Given the description of an element on the screen output the (x, y) to click on. 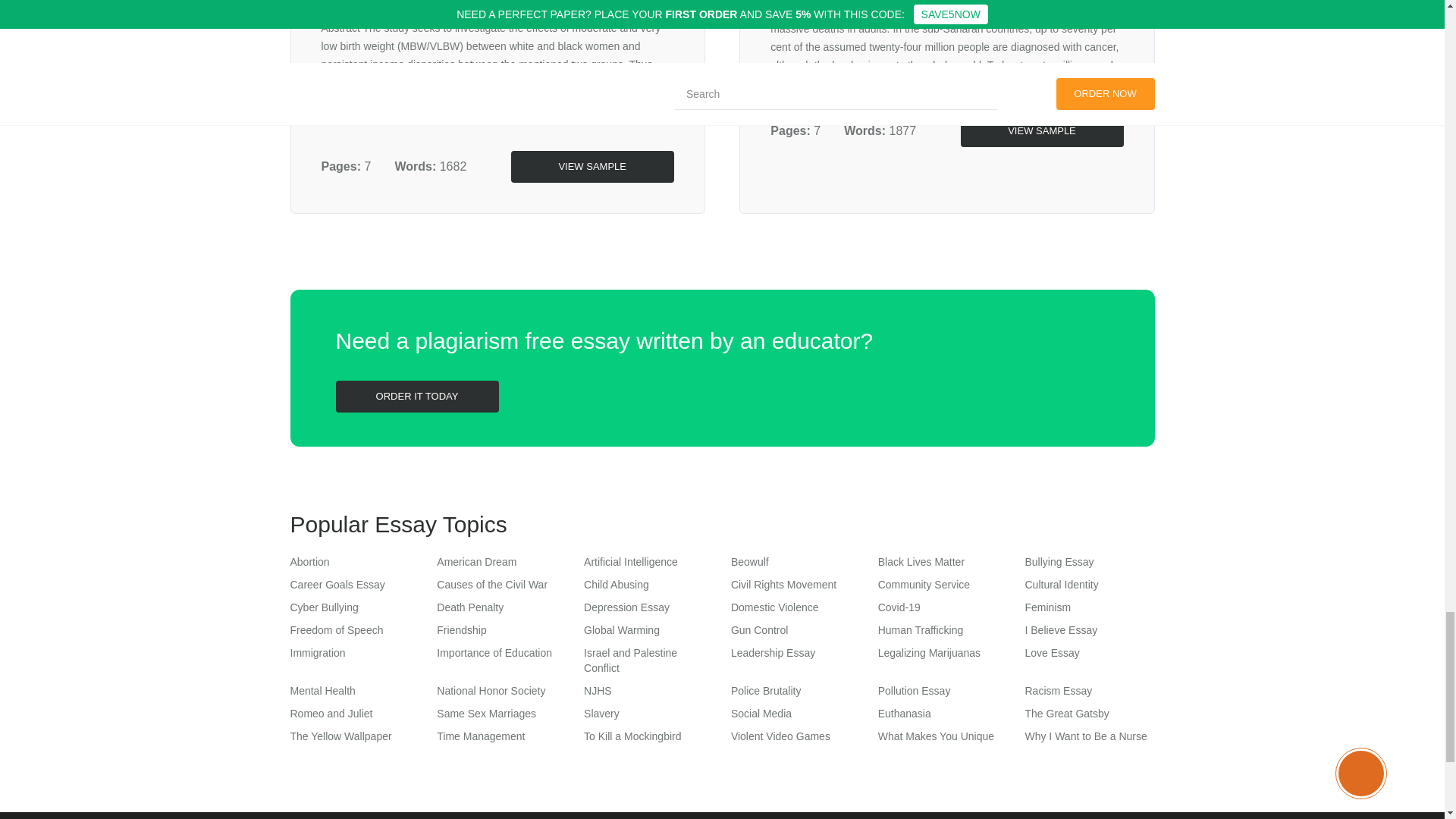
ORDER IT TODAY (415, 396)
Read More (395, 119)
Artificial Intelligence (630, 562)
VIEW SAMPLE (592, 166)
VIEW SAMPLE (1040, 131)
Read More (1043, 82)
American Dream (476, 562)
Abortion (309, 562)
